Given the description of an element on the screen output the (x, y) to click on. 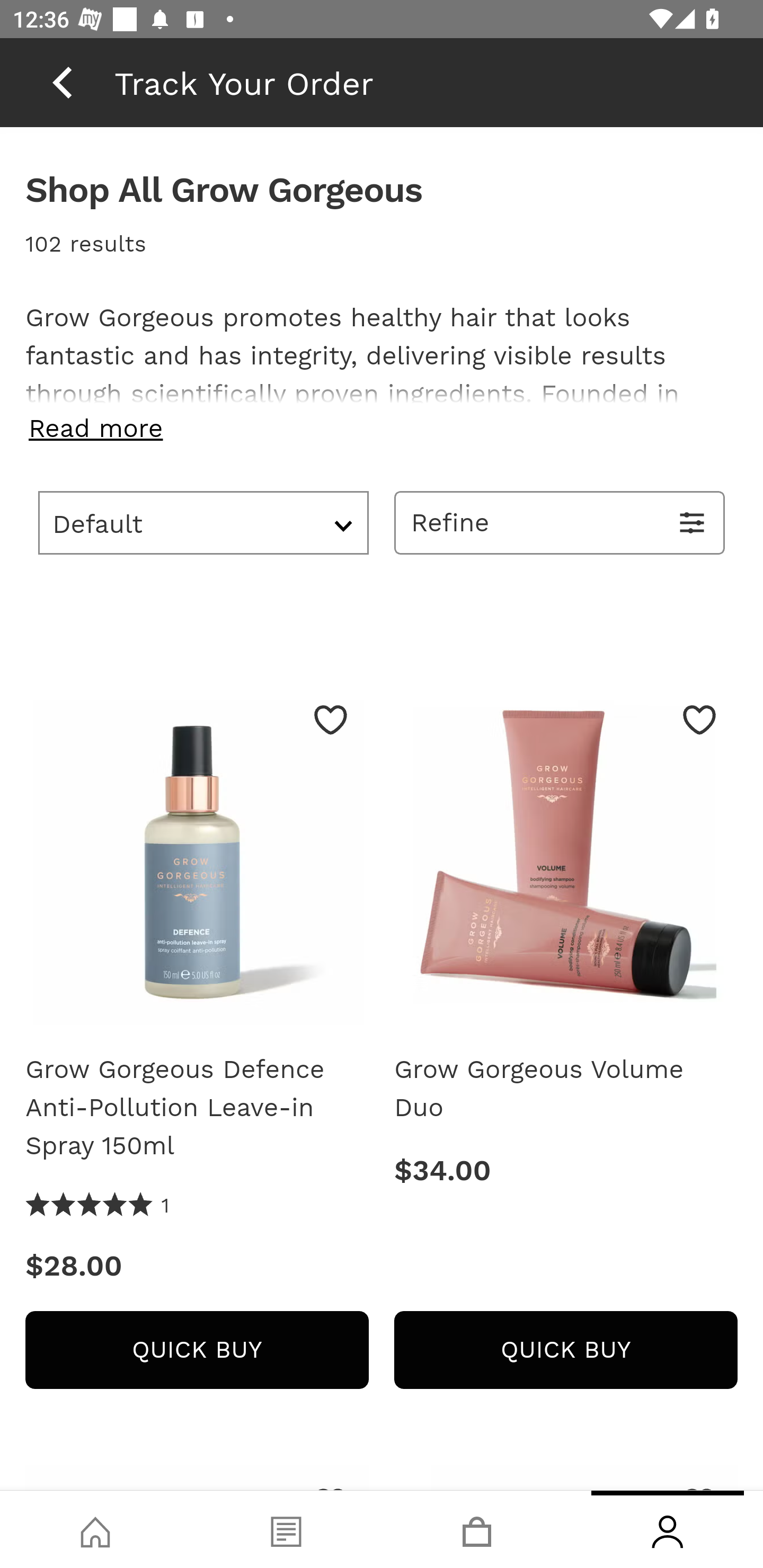
back (61, 82)
Read more (381, 427)
Default (203, 522)
Refine (559, 522)
Grow Gorgeous Volume Duo (565, 860)
Save to Wishlist (330, 719)
Save to Wishlist (698, 719)
Grow Gorgeous Volume Duo (565, 1088)
Price: $34.00 (565, 1171)
5.0 Stars 1 Reviews (97, 1206)
Price: $28.00 (196, 1266)
QUICK BUY GROW GORGEOUS VOLUME DUO (565, 1349)
Shop, tab, 1 of 4 (95, 1529)
Blog, tab, 2 of 4 (285, 1529)
Basket, tab, 3 of 4 (476, 1529)
Account, tab, 4 of 4 (667, 1529)
